Given the description of an element on the screen output the (x, y) to click on. 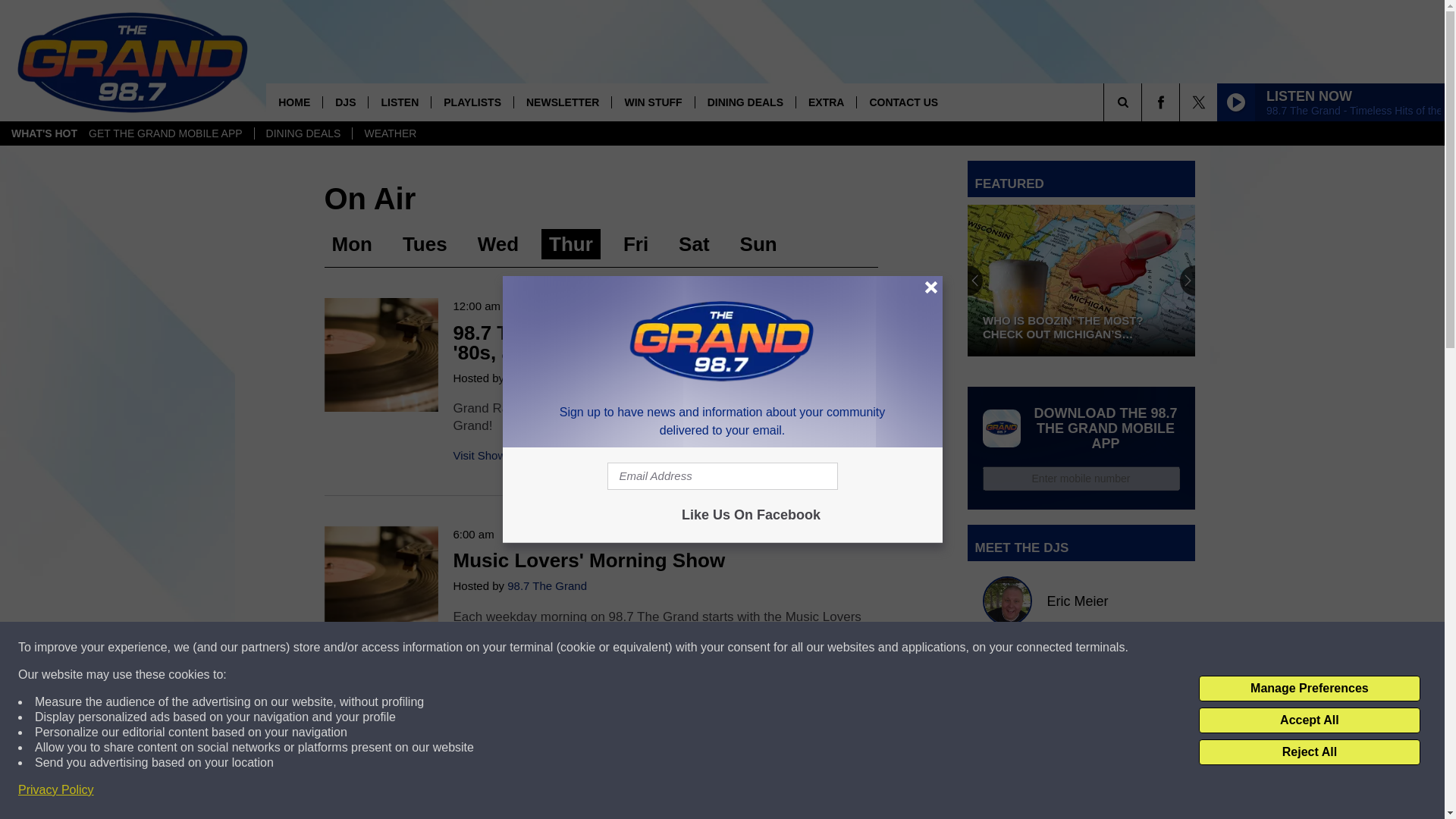
SEARCH (1144, 102)
SEARCH (1144, 102)
WEATHER (390, 133)
PLAYLISTS (471, 102)
HOME (293, 102)
DINING DEALS (302, 133)
GET THE GRAND MOBILE APP (165, 133)
NEWSLETTER (562, 102)
LISTEN (399, 102)
DJS (344, 102)
CONTACT US (903, 102)
Email Address (722, 475)
WIN STUFF (652, 102)
Accept All (1309, 720)
Reject All (1309, 751)
